Given the description of an element on the screen output the (x, y) to click on. 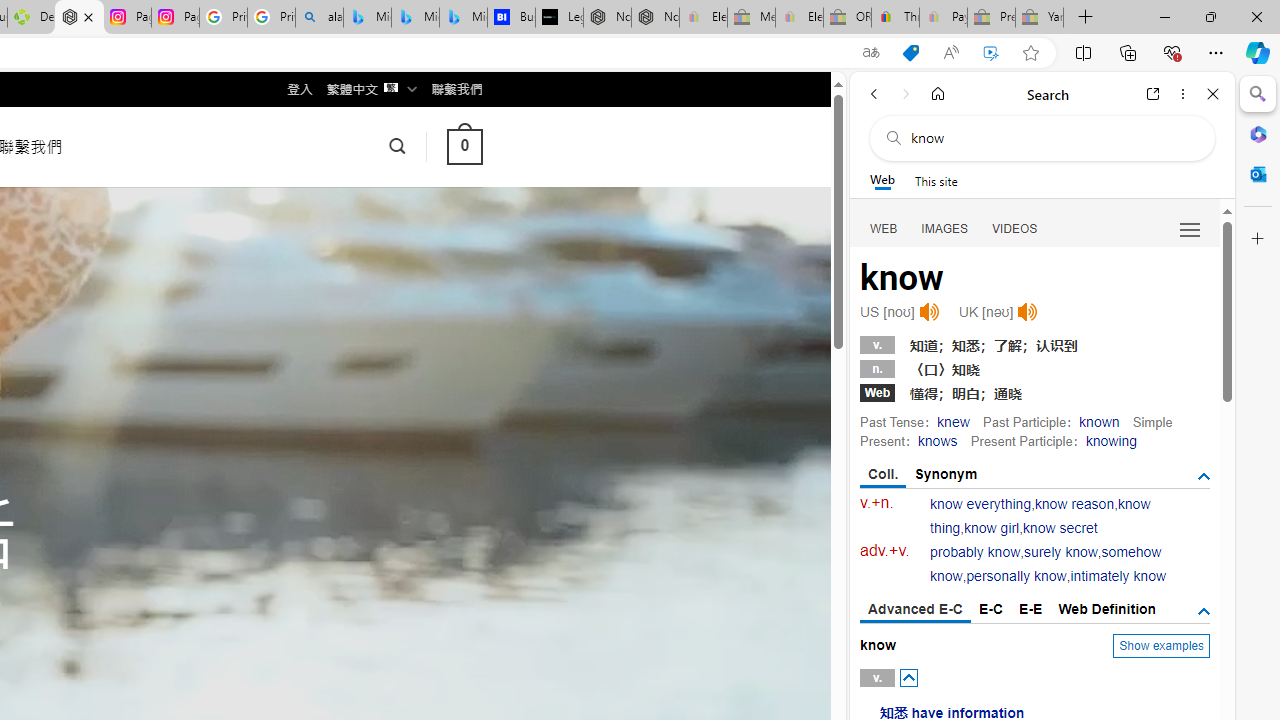
Click to listen (1027, 312)
This site scope (936, 180)
knowing (1110, 440)
Search Filter, IMAGES (944, 228)
knew (953, 421)
